Given the description of an element on the screen output the (x, y) to click on. 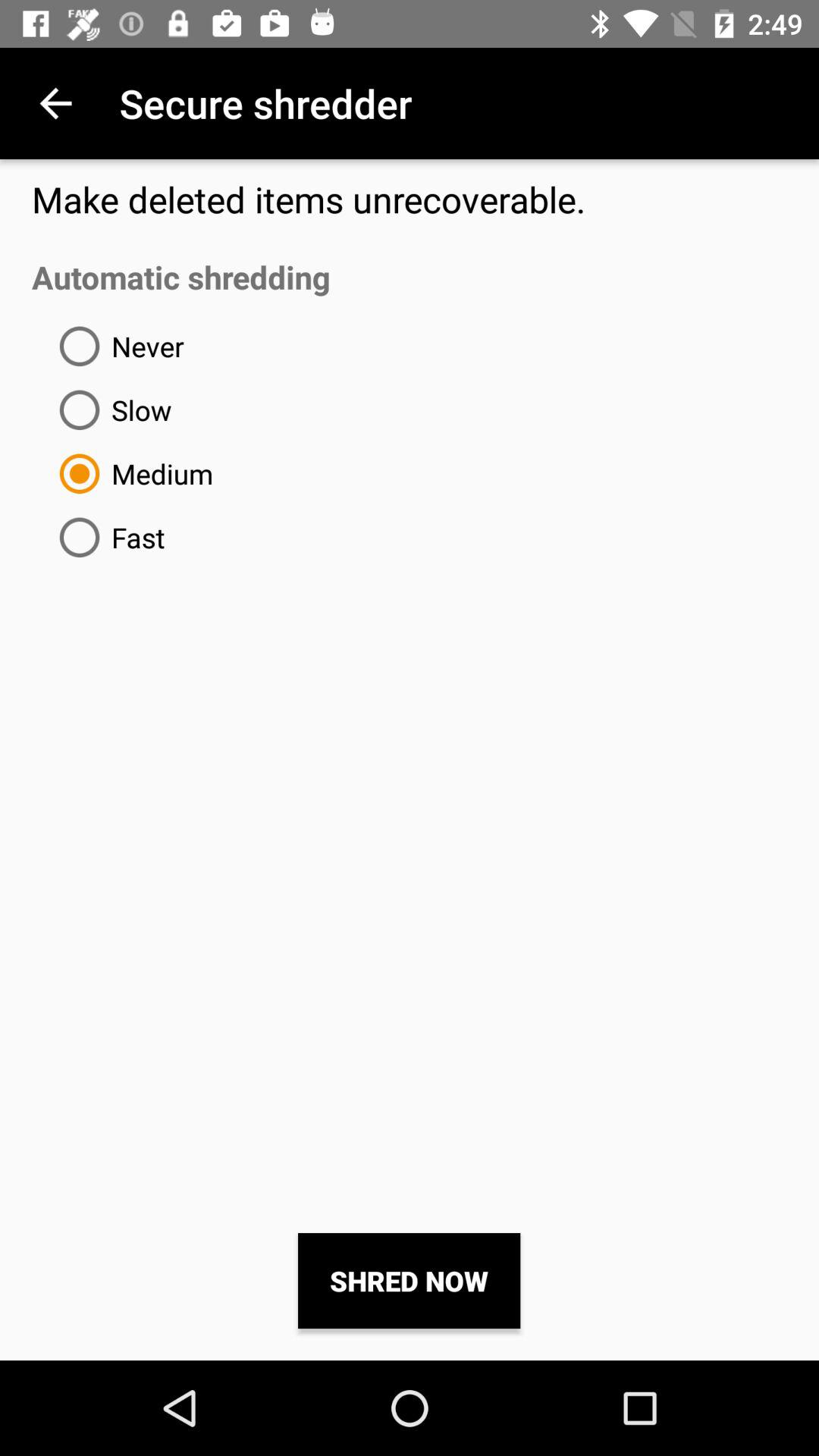
jump until medium item (130, 473)
